Given the description of an element on the screen output the (x, y) to click on. 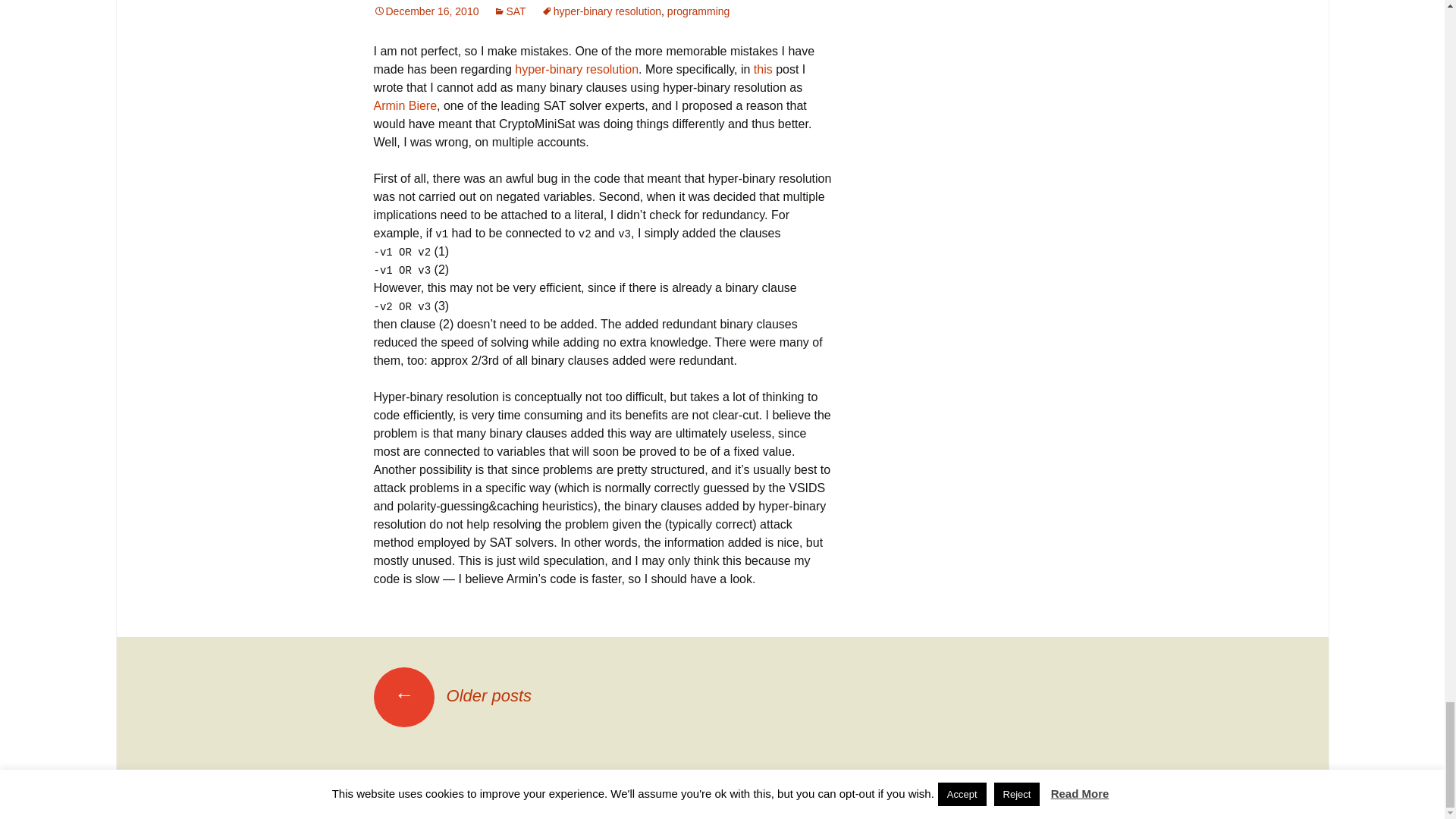
Permalink to Hyper-binary resolution: I was wrong, again (425, 10)
